Given the description of an element on the screen output the (x, y) to click on. 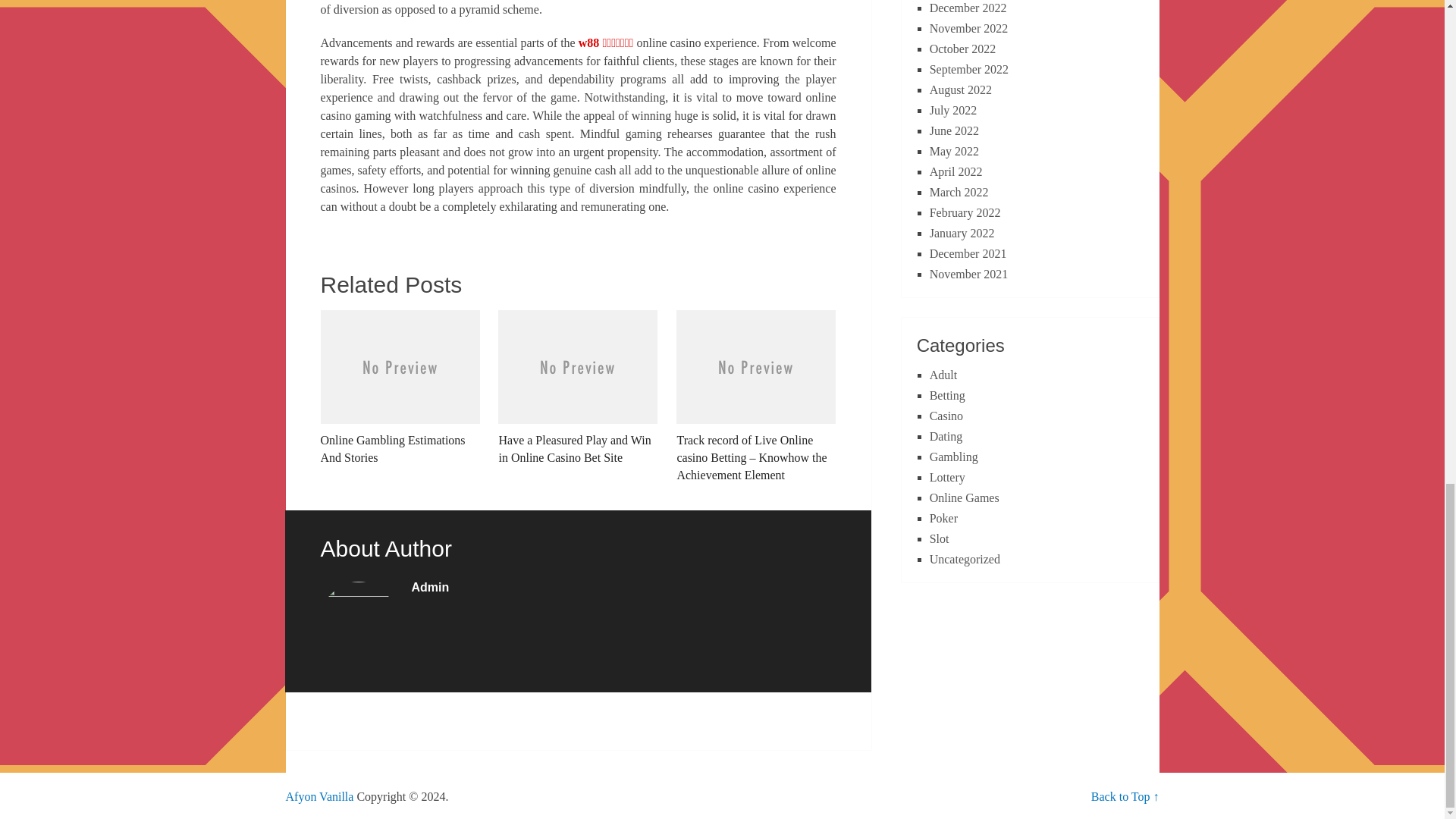
Online Gambling Estimations And Stories (399, 388)
Have a Pleasured Play and Win in Online Casino Bet Site (577, 388)
Online Gambling Estimations And Stories (399, 388)
Check the play guides covering all casino games (319, 796)
Have a Pleasured Play and Win in Online Casino Bet Site (577, 388)
